Given the description of an element on the screen output the (x, y) to click on. 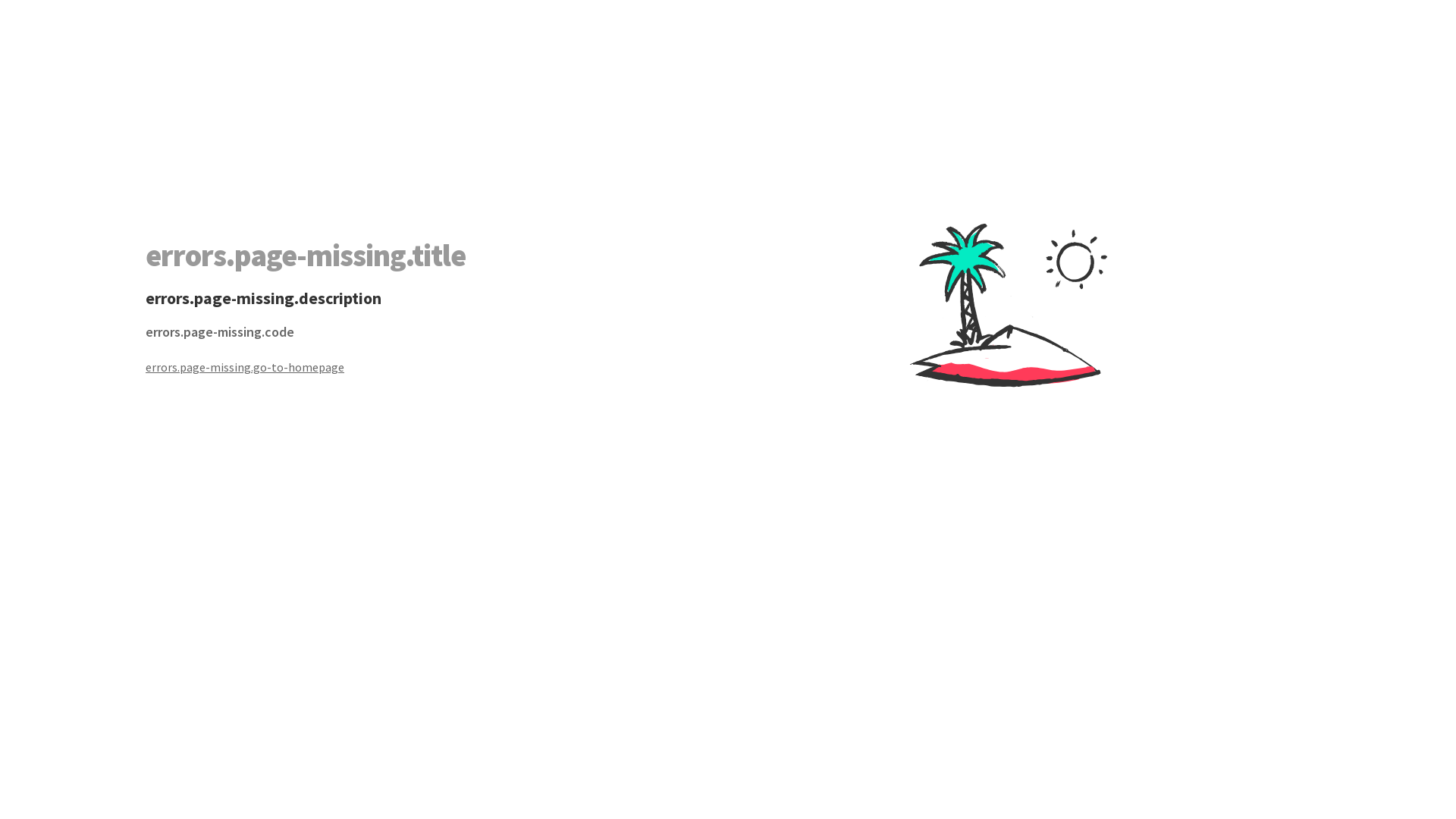
errors.page-missing.go-to-homepage Element type: text (436, 366)
